Given the description of an element on the screen output the (x, y) to click on. 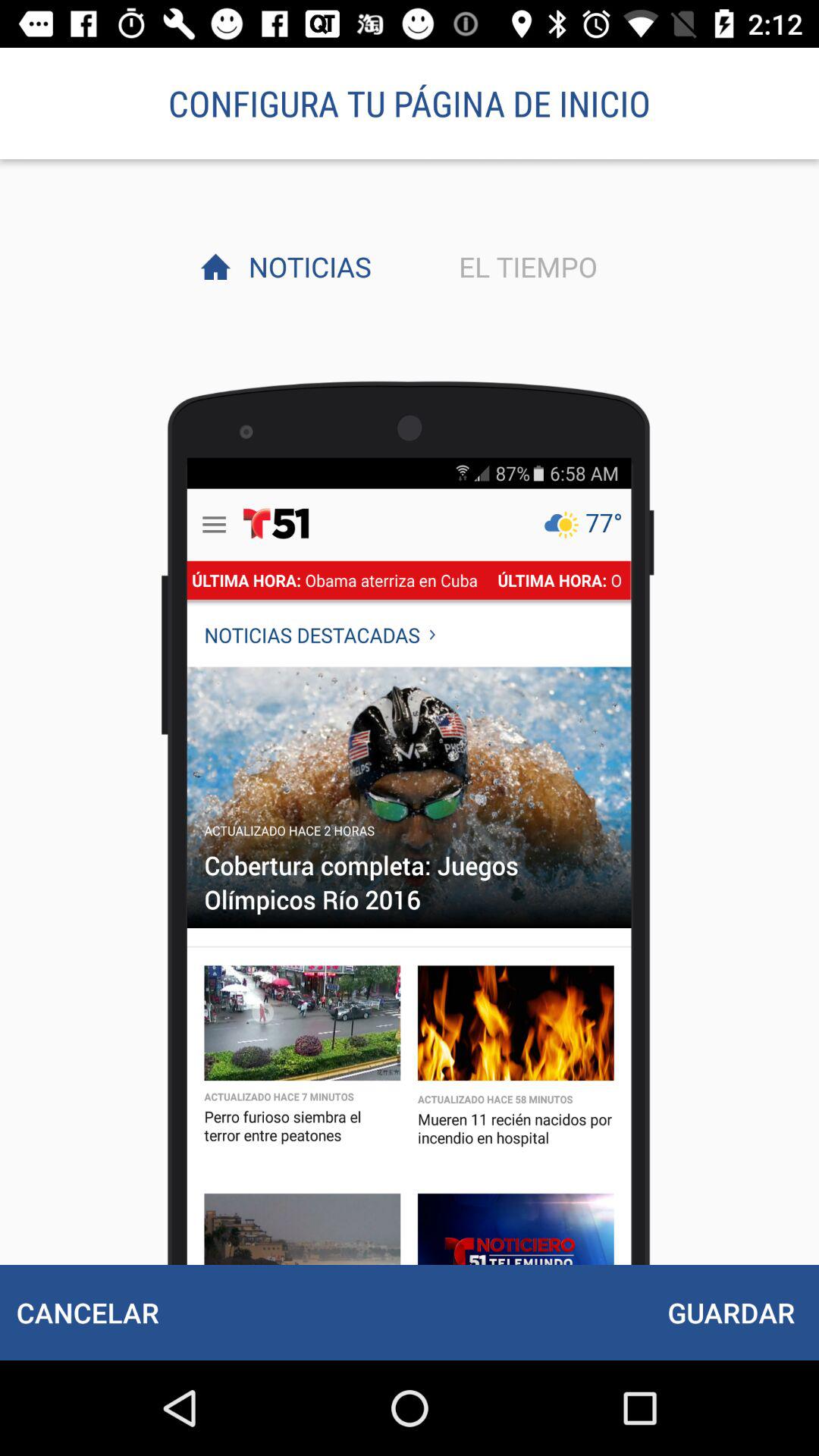
open item to the left of el tiempo icon (305, 266)
